Given the description of an element on the screen output the (x, y) to click on. 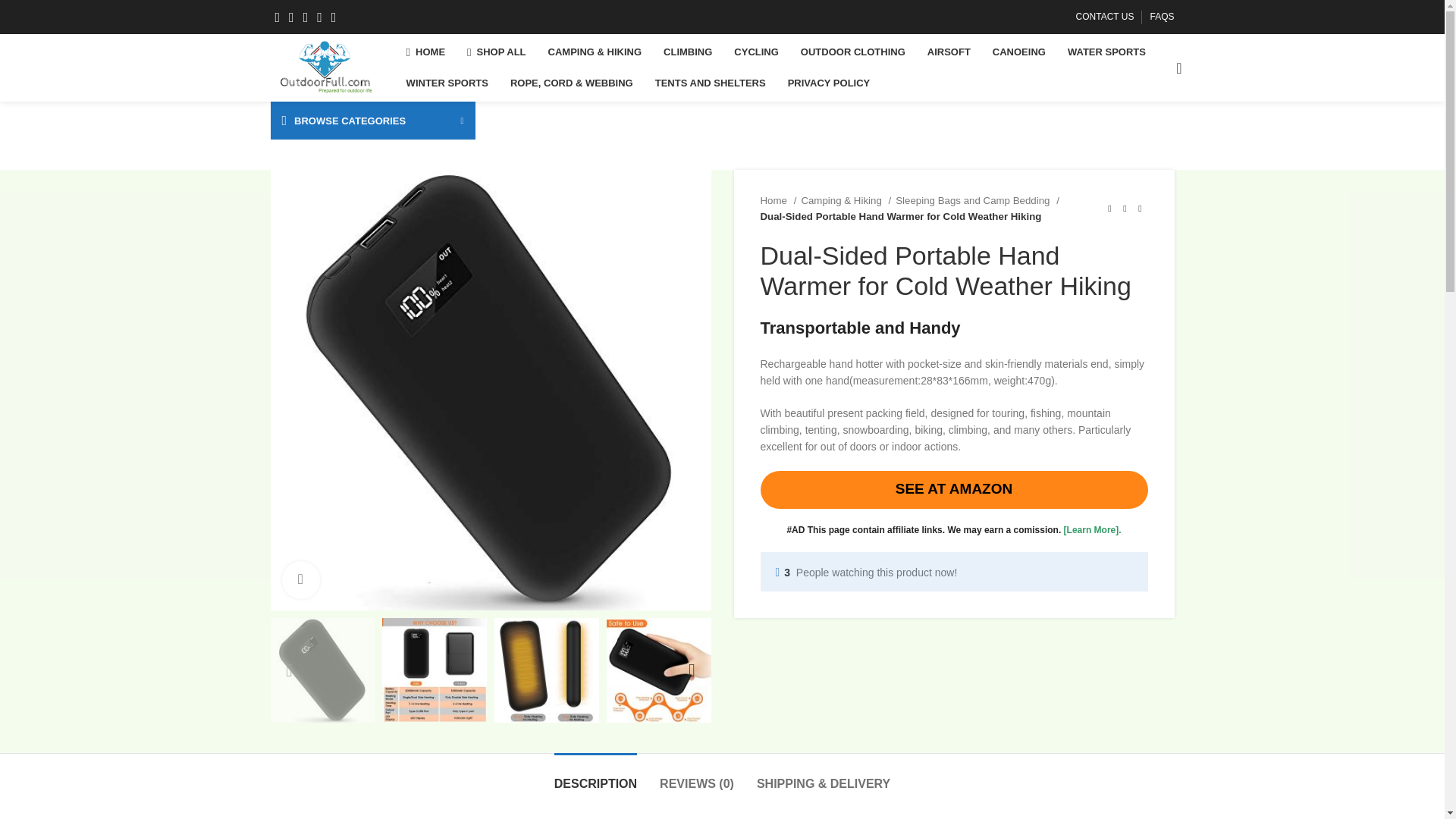
CLIMBING (686, 51)
CONTACT US (1104, 16)
CYCLING (756, 51)
AIRSOFT (948, 51)
TENTS AND SHELTERS (710, 82)
CANOEING (1019, 51)
Search (1173, 68)
SHOP ALL (496, 51)
WINTER SPORTS (447, 82)
OUTDOOR CLOTHING (853, 51)
PRIVACY POLICY (828, 82)
HOME (425, 51)
FAQS (1161, 16)
WATER SPORTS (1106, 51)
